Given the description of an element on the screen output the (x, y) to click on. 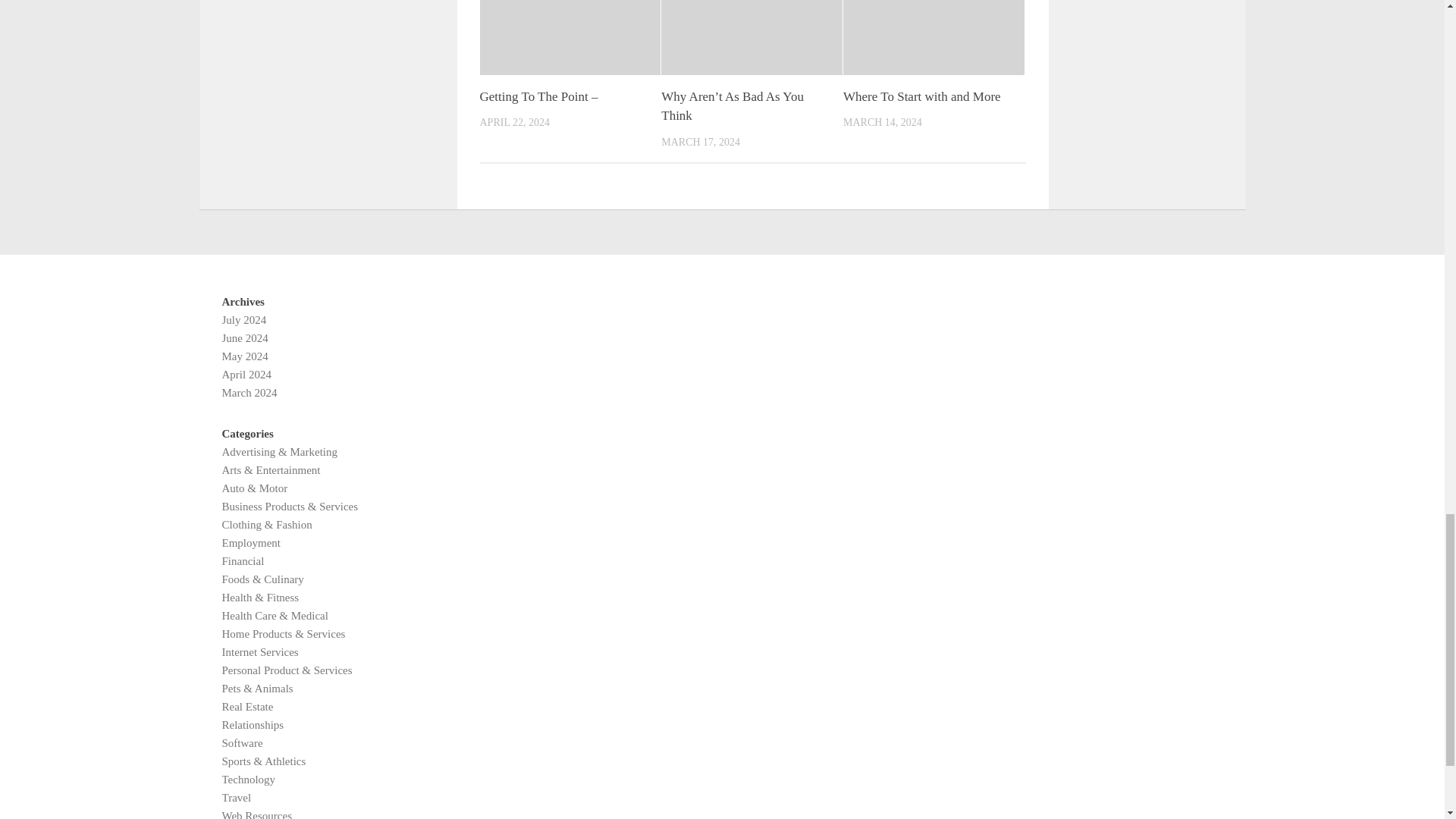
July 2024 (243, 319)
April 2024 (245, 374)
June 2024 (244, 337)
March 2024 (248, 392)
May 2024 (244, 356)
Employment (251, 542)
Where To Start with and More (922, 96)
